Given the description of an element on the screen output the (x, y) to click on. 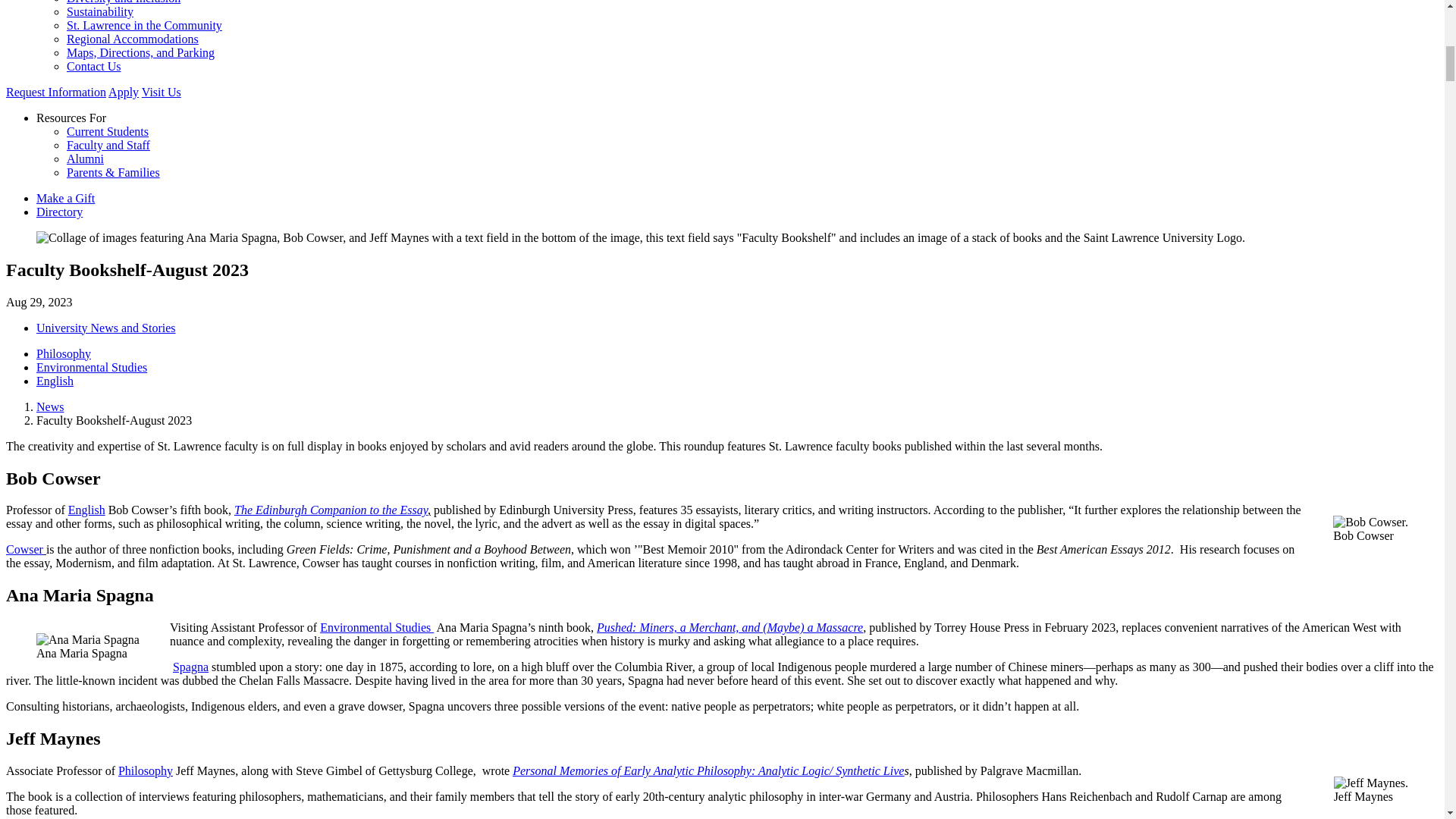
Philosophy (142, 770)
English (86, 509)
Dr. Bob Cowser (24, 549)
